Given the description of an element on the screen output the (x, y) to click on. 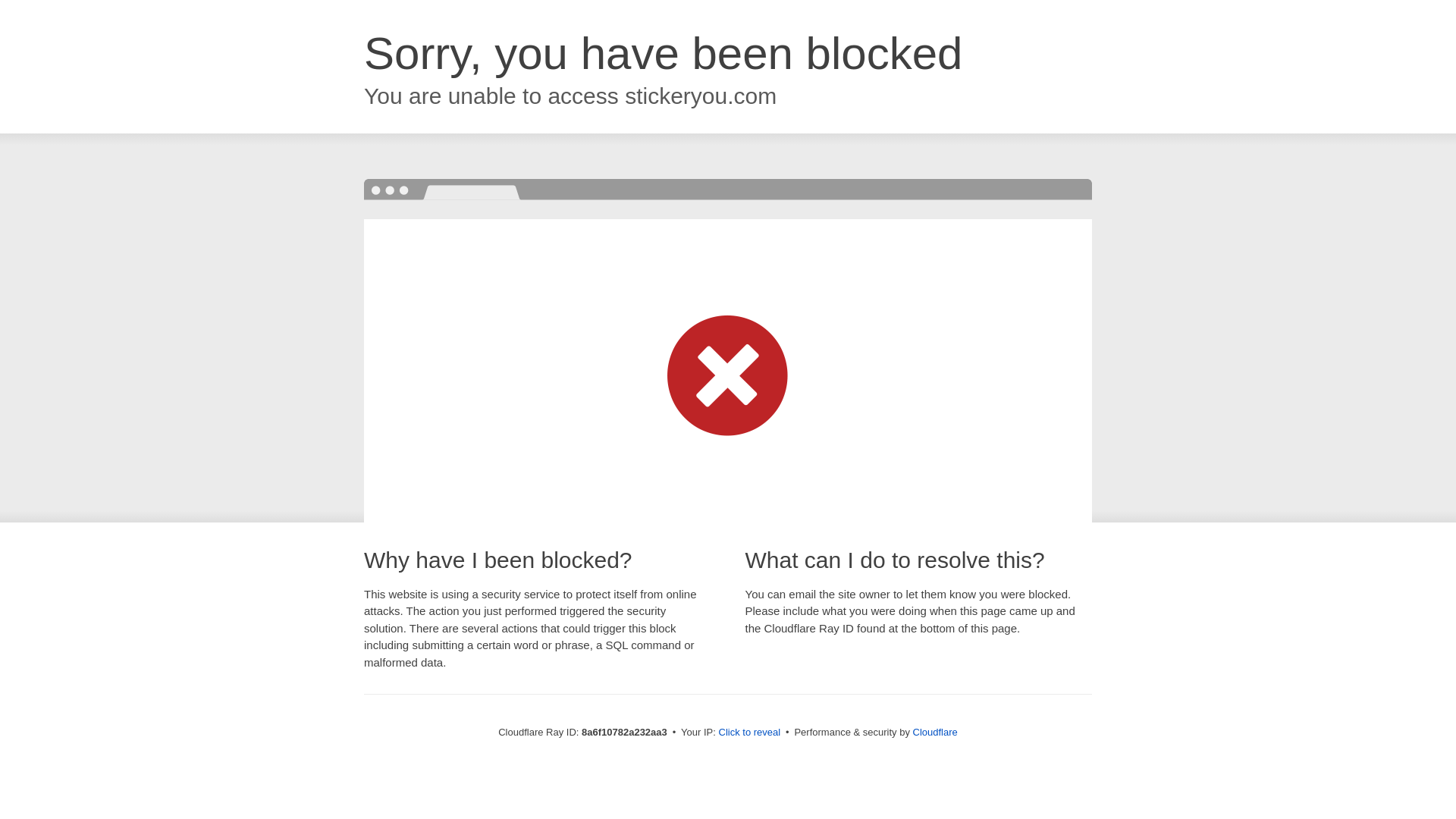
Cloudflare (935, 731)
Click to reveal (749, 732)
